Given the description of an element on the screen output the (x, y) to click on. 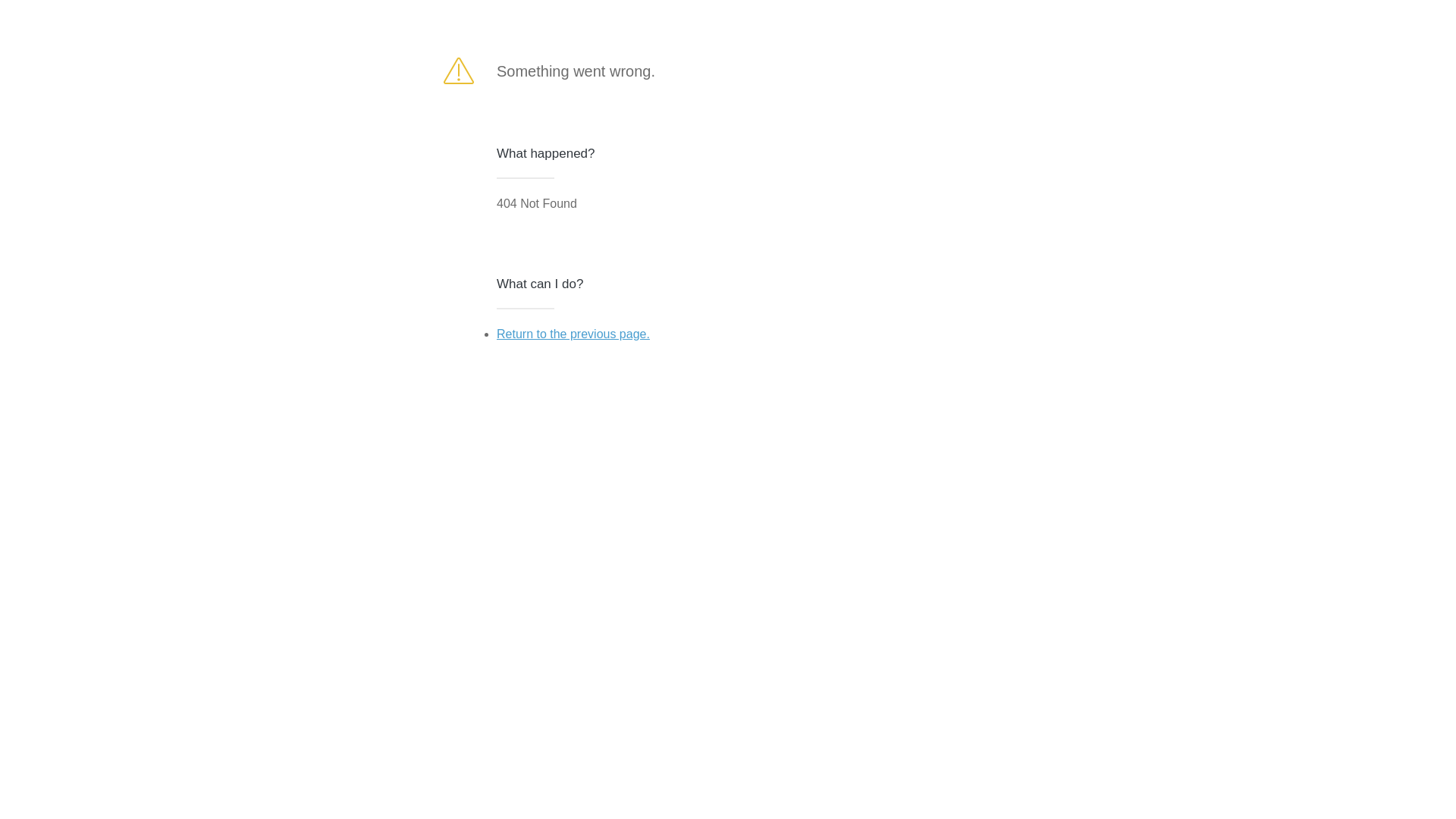
Return to the previous page. Element type: text (572, 333)
